Given the description of an element on the screen output the (x, y) to click on. 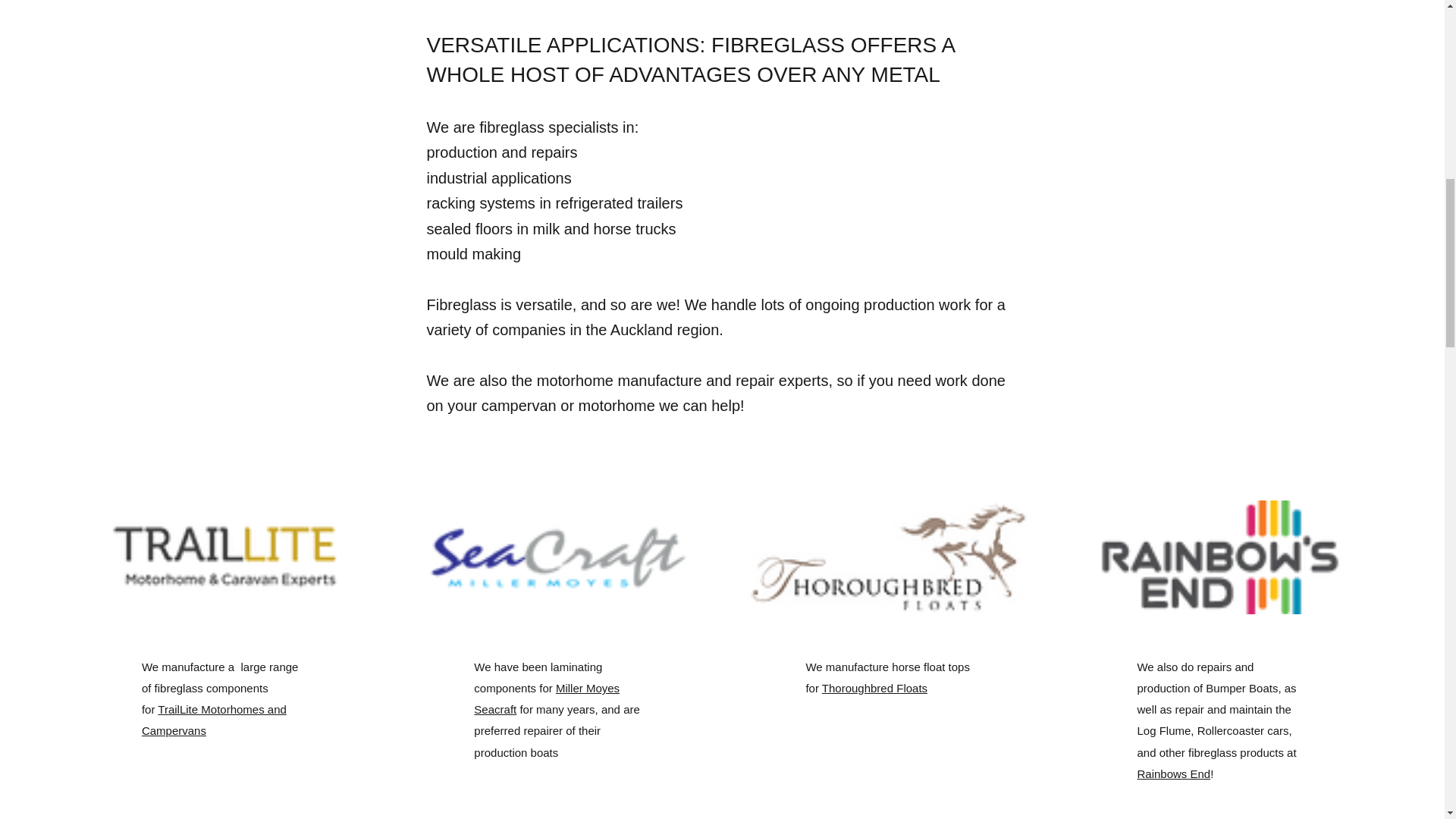
Miller Moyes Seacraft (547, 698)
Thoroughbred Floats (874, 687)
TrailLite Motorhomes and Campervans (213, 719)
Rainbows End (1173, 773)
